Given the description of an element on the screen output the (x, y) to click on. 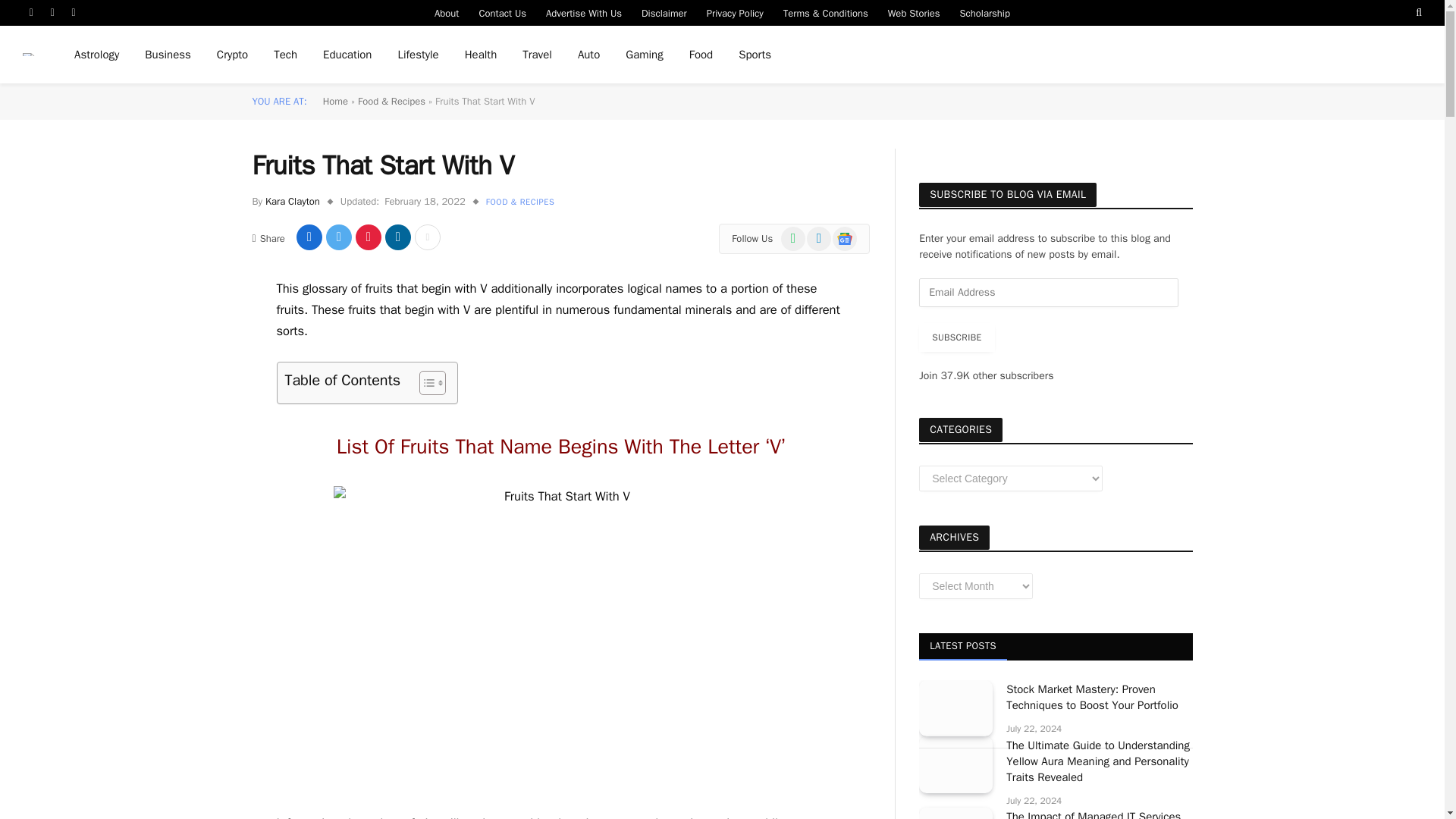
About (446, 12)
Contact Us (501, 12)
Advertise With Us (583, 12)
Health (481, 54)
Business (167, 54)
Education (347, 54)
Disclaimer (664, 12)
Astrology (96, 54)
Scholarship (985, 12)
Privacy Policy (735, 12)
Share on Facebook (309, 237)
Share on Pinterest (368, 237)
Gaming (643, 54)
Share on LinkedIn (397, 237)
Lifestyle (417, 54)
